Given the description of an element on the screen output the (x, y) to click on. 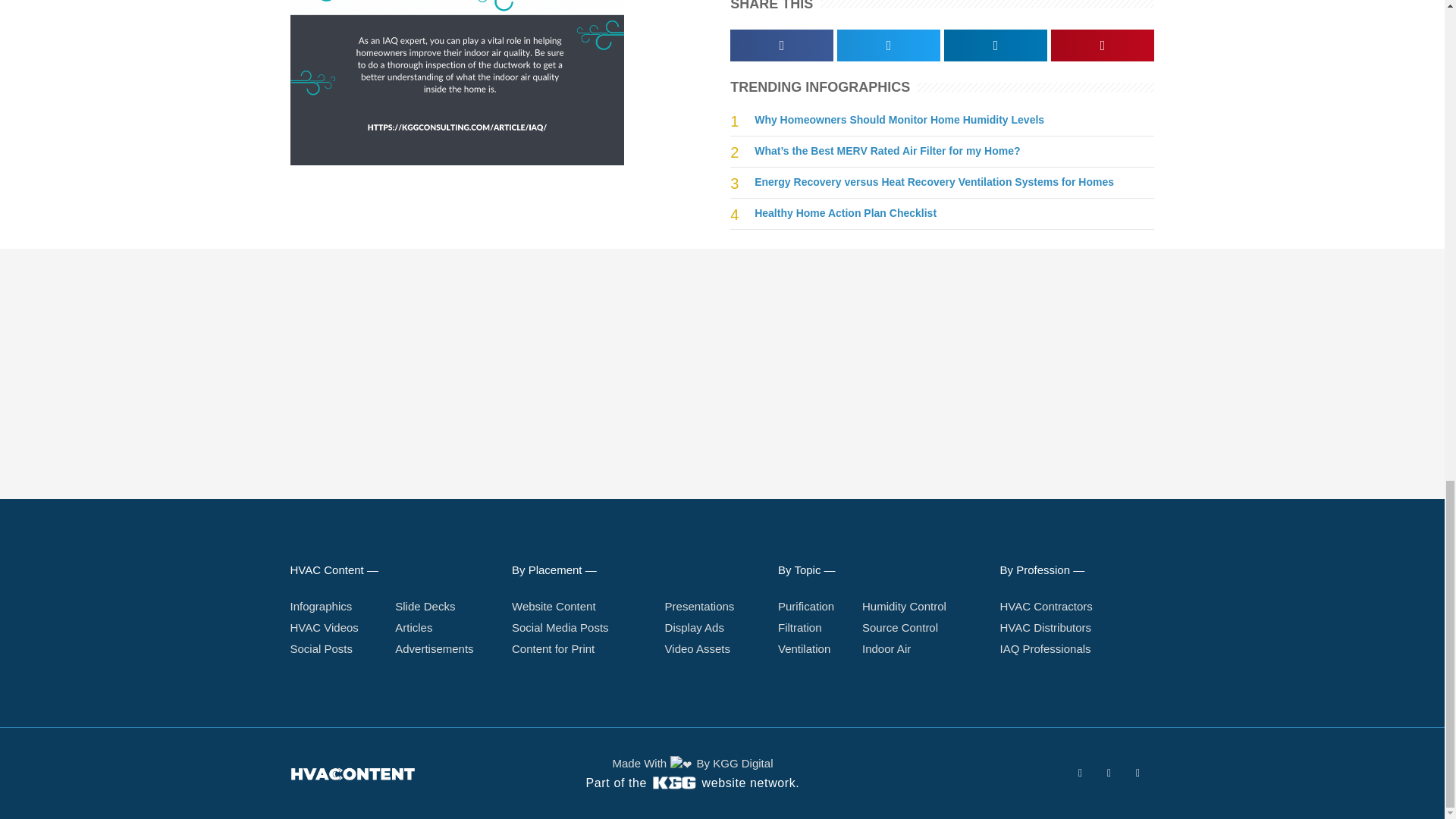
Why Homeowners Should Monitor Home Humidity Levels (898, 119)
Healthy Home Action Plan Checklist (845, 213)
